Given the description of an element on the screen output the (x, y) to click on. 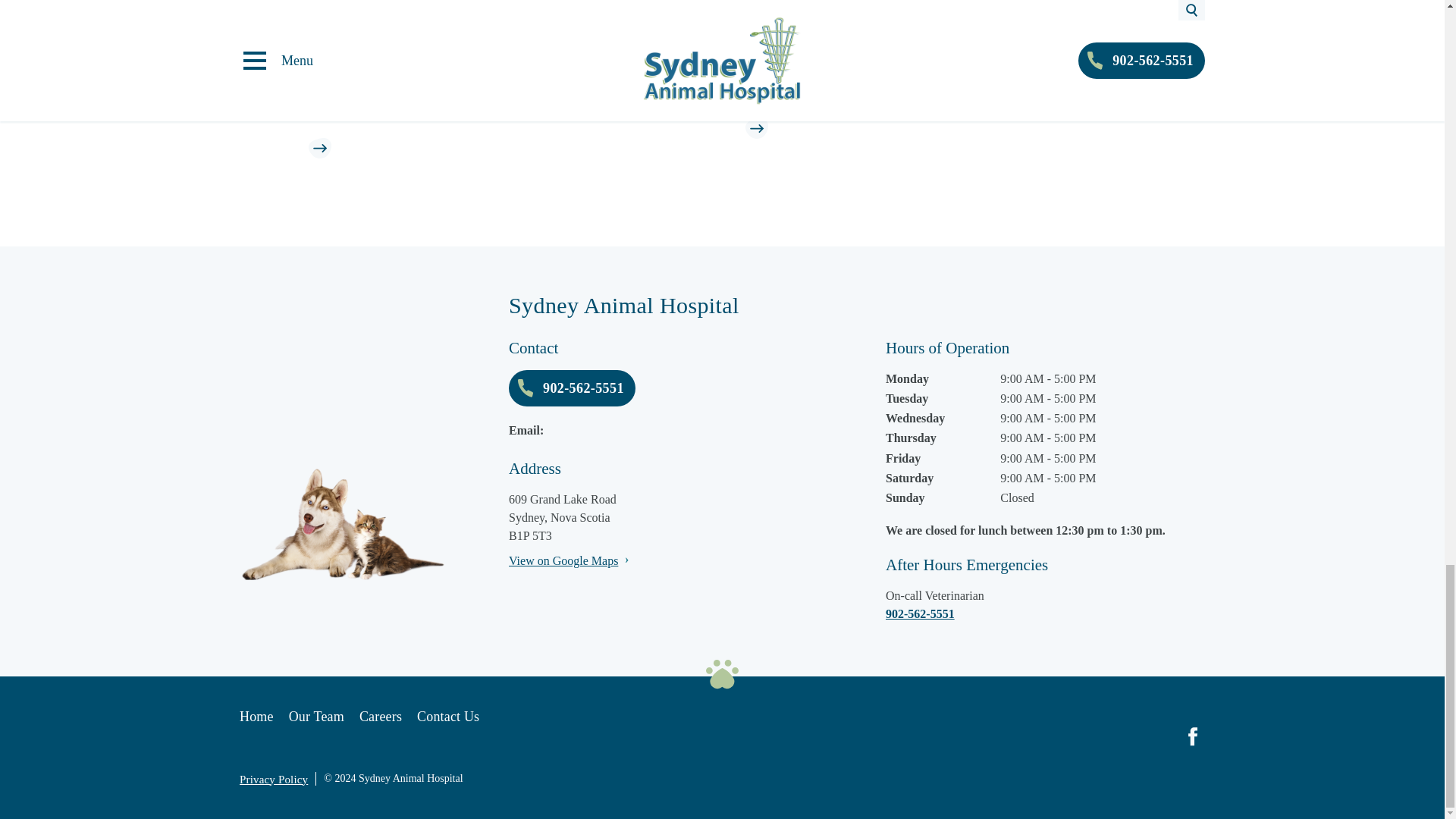
Careers (380, 716)
View on Google Maps (562, 560)
902-562-5551 (571, 388)
Our Team (315, 716)
Home (256, 716)
902-562-5551 (1045, 614)
Contact Us (447, 716)
